Given the description of an element on the screen output the (x, y) to click on. 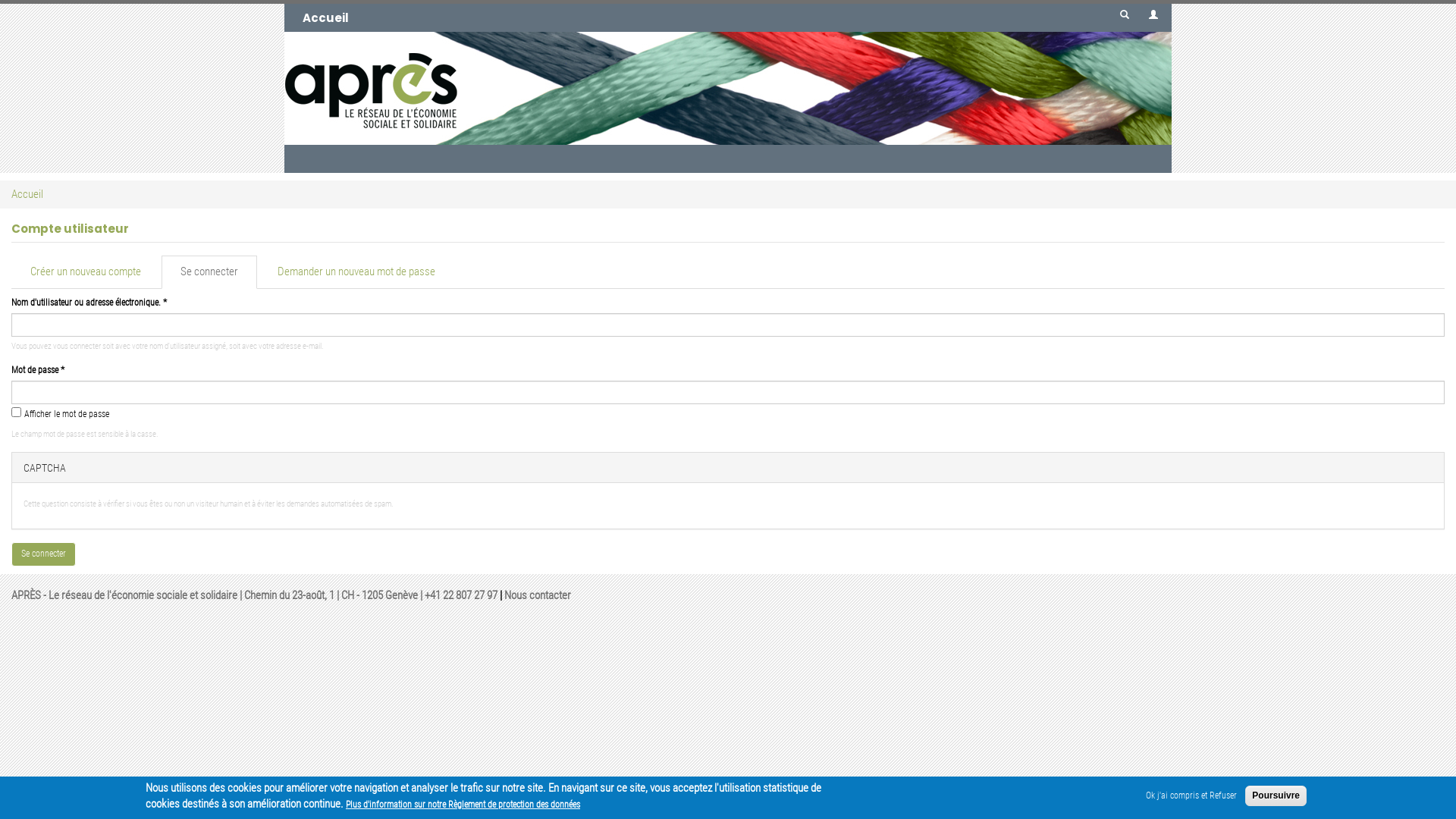
Poursuivre Element type: text (1275, 795)
Se connecter
(onglet actif) Element type: text (209, 271)
Demander un nouveau mot de passe Element type: text (356, 271)
Ok j'ai compris et Refuser Element type: text (1190, 795)
Aller au contenu principal Element type: text (0, 0)
Accueil Element type: text (27, 193)
Nous contacter Element type: text (537, 595)
Se connecter Element type: text (43, 553)
Accueil Element type: hover (727, 87)
Accueil Element type: text (325, 17)
+41 22 807 27 97 Element type: text (460, 595)
